Given the description of an element on the screen output the (x, y) to click on. 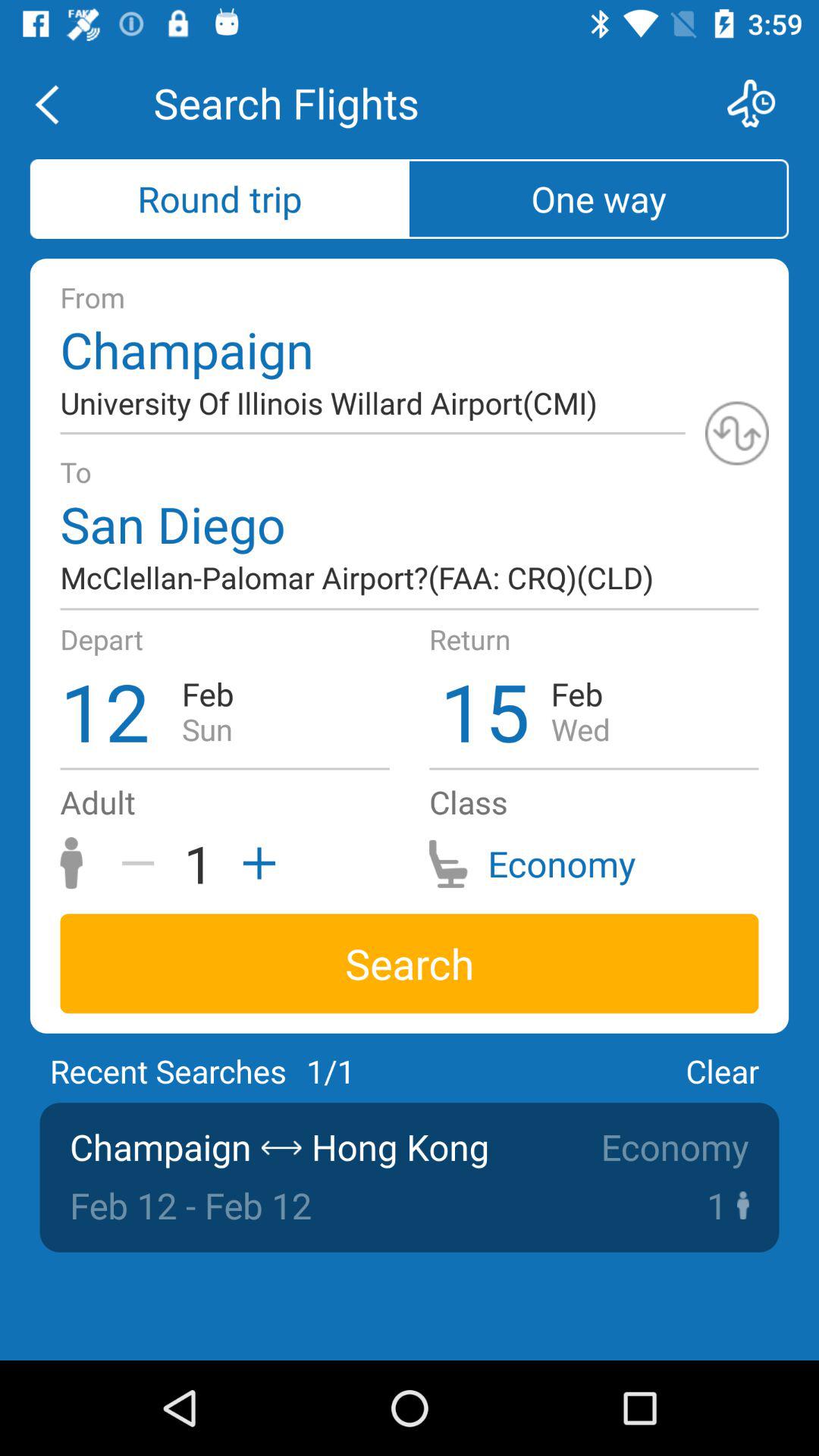
decrease number of adults (143, 863)
